Given the description of an element on the screen output the (x, y) to click on. 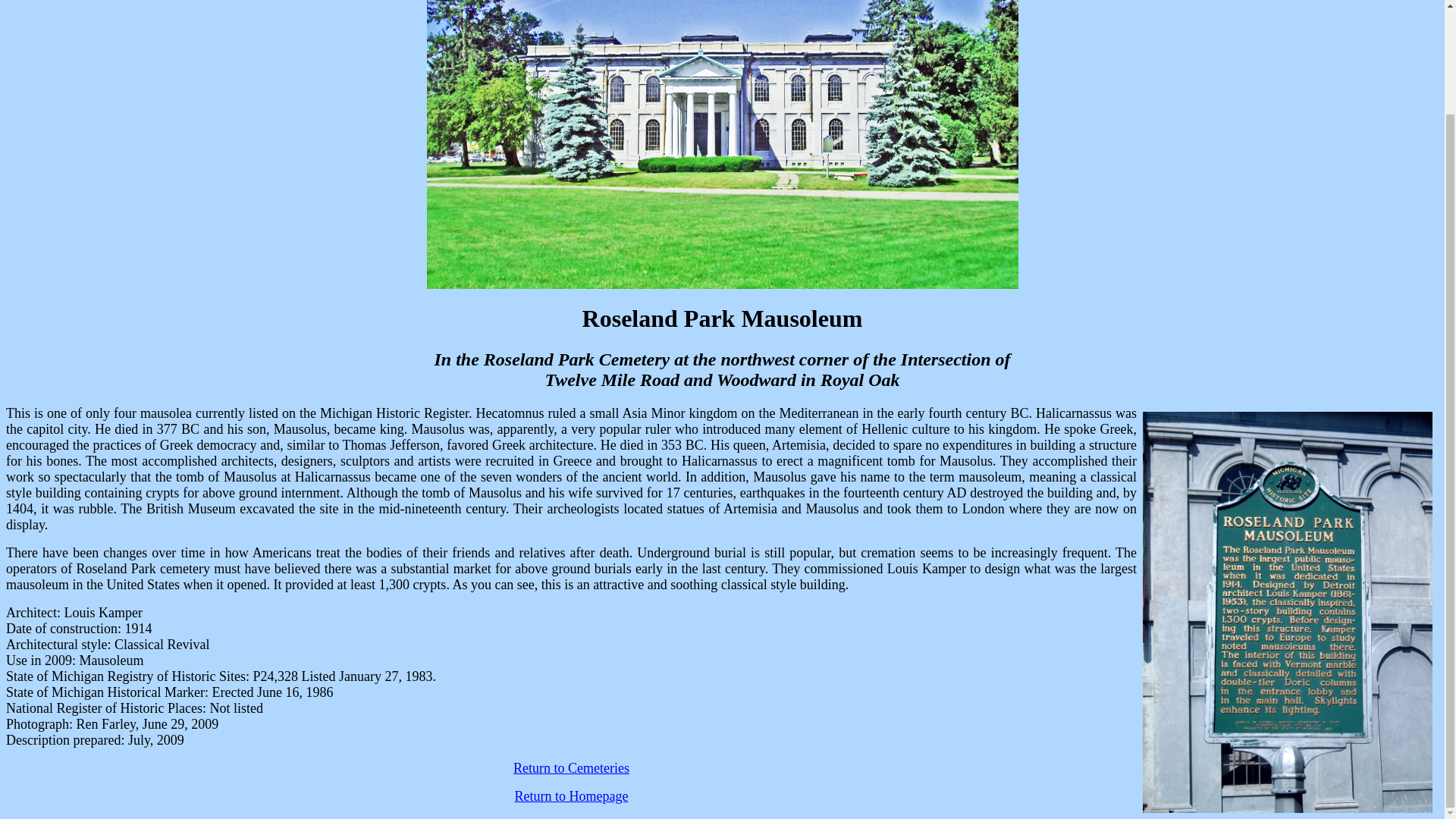
Return to Homepage (571, 795)
Return to Cemeteries (570, 767)
